Given the description of an element on the screen output the (x, y) to click on. 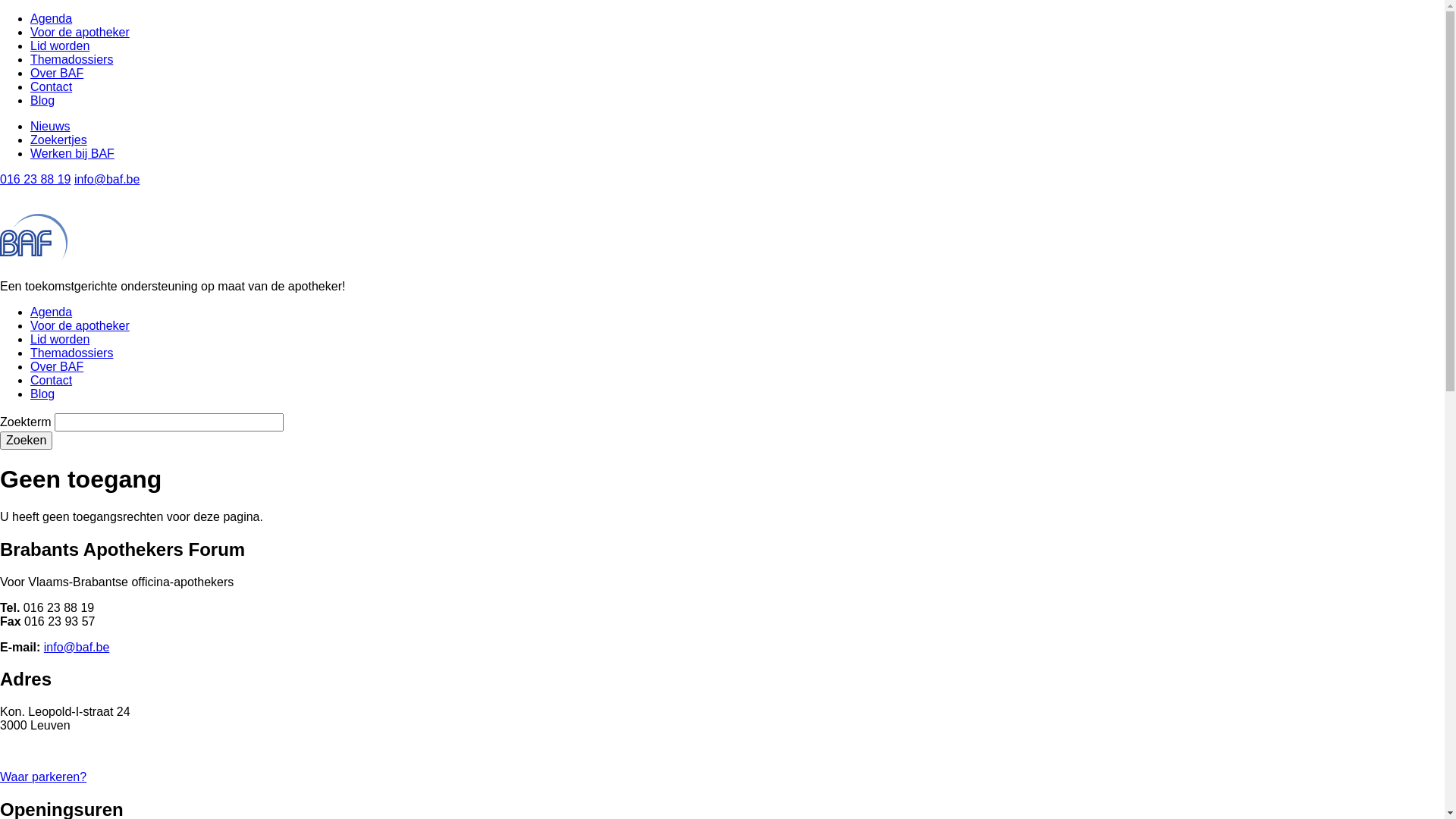
Blog Element type: text (42, 393)
Voor de apotheker Element type: text (79, 31)
Contact Element type: text (51, 86)
Contact Element type: text (51, 379)
Zoekertjes Element type: text (58, 139)
Over BAF Element type: text (56, 366)
Themadossiers Element type: text (71, 59)
Overslaan en naar de inhoud gaan Element type: text (0, 12)
Voor de apotheker Element type: text (79, 325)
Home Element type: hover (34, 253)
Lid worden Element type: text (59, 45)
info@baf.be Element type: text (107, 178)
Agenda Element type: text (51, 18)
Blog Element type: text (42, 100)
Lid worden Element type: text (59, 338)
Zoeken Element type: text (26, 440)
Agenda Element type: text (51, 311)
info@baf.be Element type: text (76, 646)
Themadossiers Element type: text (71, 352)
016 23 88 19 Element type: text (35, 178)
Over BAF Element type: text (56, 72)
Nieuws Element type: text (49, 125)
Werken bij BAF Element type: text (72, 153)
Waar parkeren? Element type: text (43, 776)
